Given the description of an element on the screen output the (x, y) to click on. 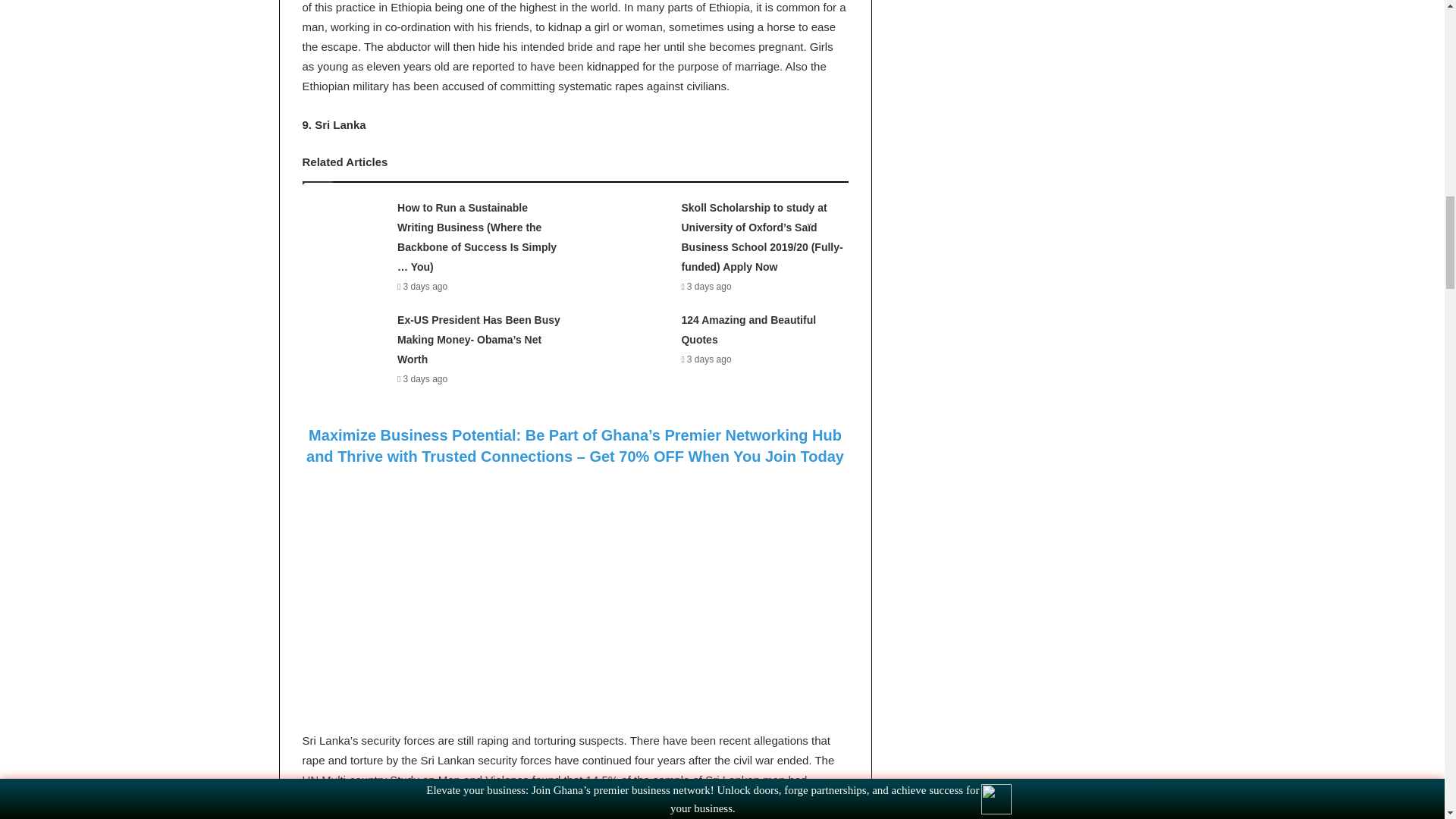
124 Amazing and Beautiful Quotes (748, 329)
